Given the description of an element on the screen output the (x, y) to click on. 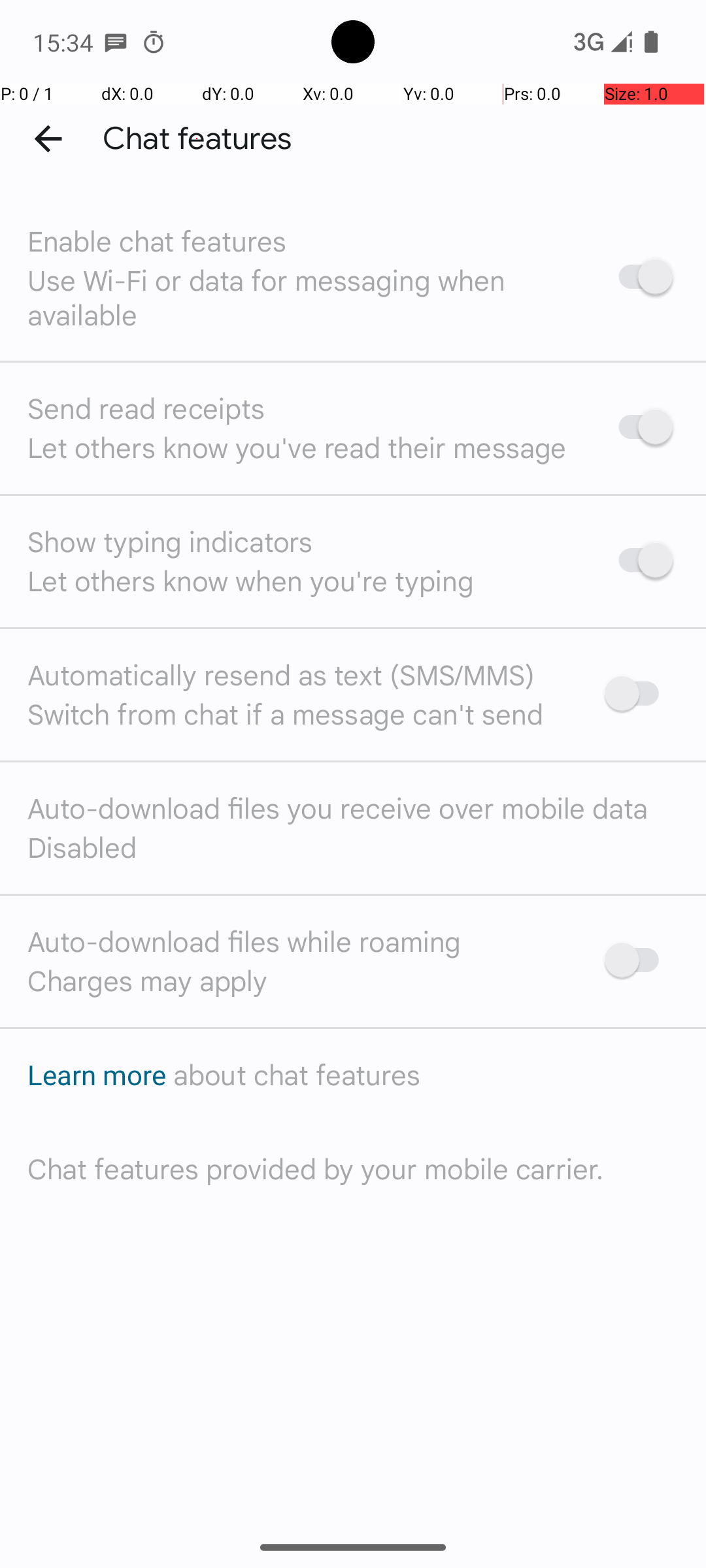
Chat features Element type: android.widget.TextView (196, 138)
Enable chat features Element type: android.widget.TextView (156, 240)
Use Wi-Fi or data for messaging when available Element type: android.widget.TextView (299, 296)
Send read receipts Element type: android.widget.TextView (146, 407)
Let others know you've read their message Element type: android.widget.TextView (296, 446)
Show typing indicators Element type: android.widget.TextView (170, 540)
Let others know when you're typing Element type: android.widget.TextView (250, 579)
Automatically resend as text (SMS/MMS) Element type: android.widget.TextView (281, 673)
Switch from chat if a message can't send Element type: android.widget.TextView (285, 713)
Auto-download files you receive over mobile data Element type: android.widget.TextView (337, 807)
Disabled Element type: android.widget.TextView (81, 846)
Auto-download files while roaming Element type: android.widget.TextView (244, 940)
Charges may apply Element type: android.widget.TextView (147, 979)
Learn more about chat features Element type: android.widget.TextView (223, 1073)
Chat features provided by your mobile carrier. Element type: android.widget.TextView (315, 1167)
